Given the description of an element on the screen output the (x, y) to click on. 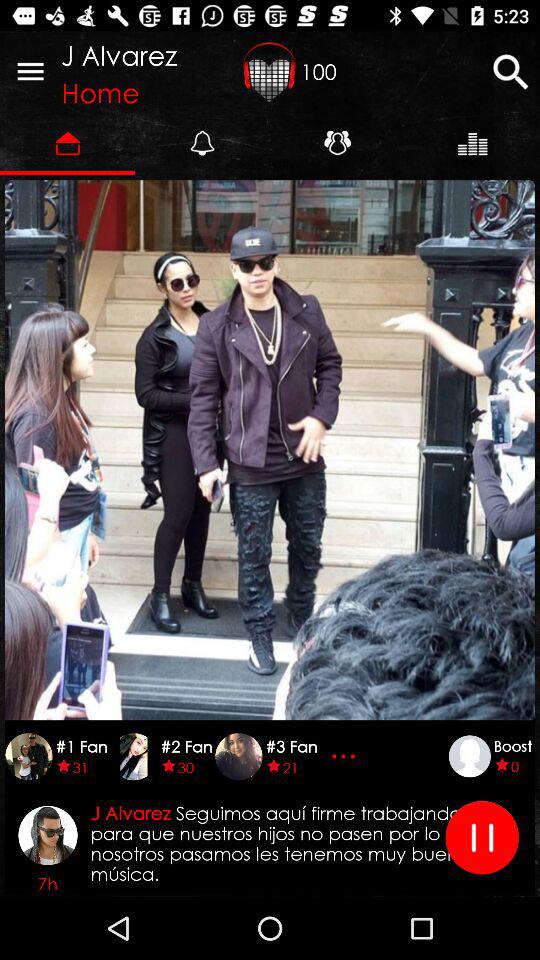
click item next to #3 fan icon (346, 756)
